Given the description of an element on the screen output the (x, y) to click on. 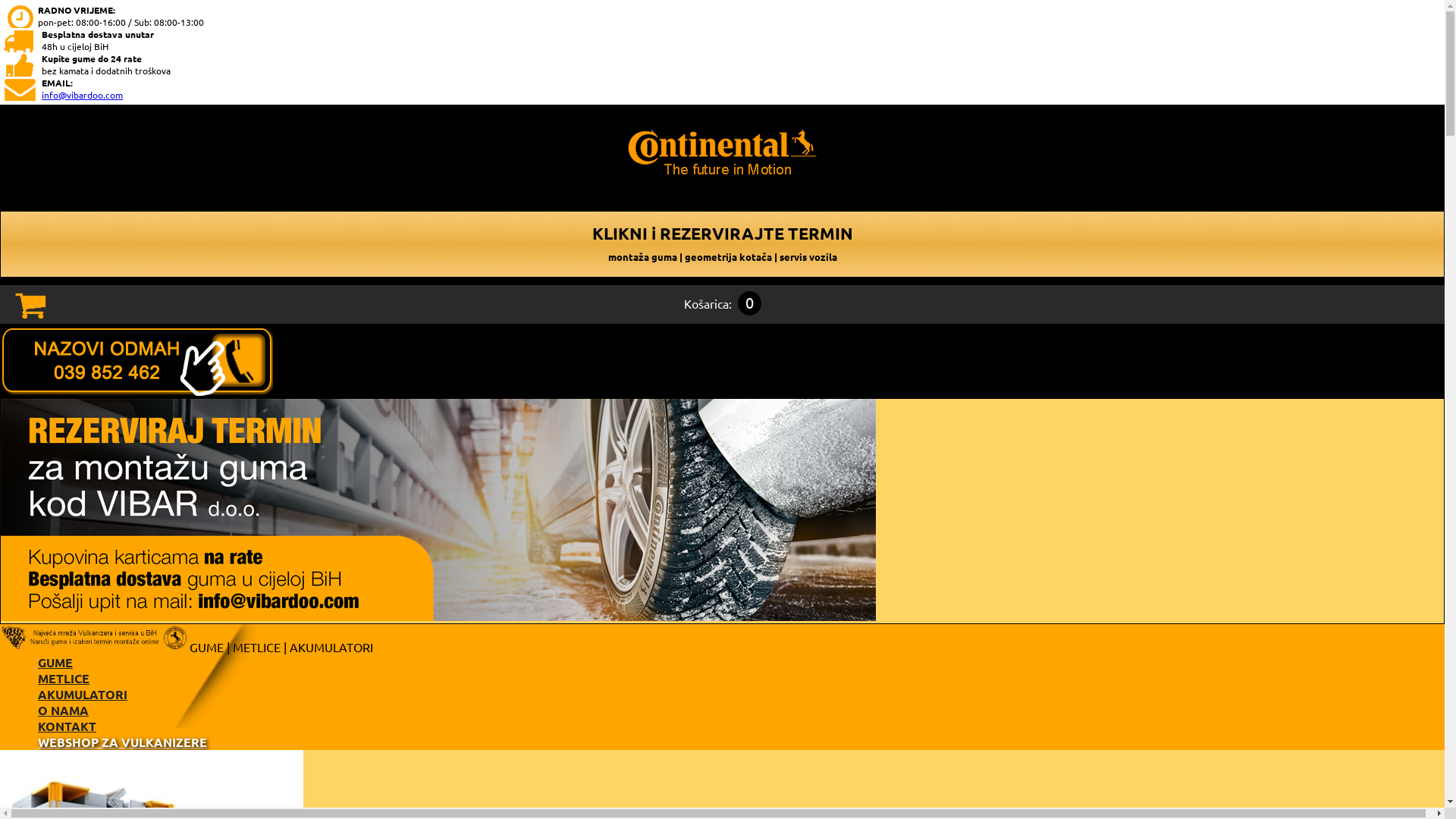
info@vibardoo.com Element type: text (81, 94)
O NAMA Element type: text (62, 709)
GUME Element type: text (206, 646)
AKUMULATORI Element type: text (82, 693)
GUME Element type: text (54, 661)
KONTAKT Element type: text (66, 725)
METLICE Element type: text (63, 677)
AKUMULATORI Element type: text (331, 646)
039 852 462 Element type: hover (136, 359)
EMAIL:
info@vibardoo.com Element type: text (725, 88)
METLICE Element type: text (256, 646)
WEBSHOP ZA VULKANIZERE Element type: text (122, 741)
